Given the description of an element on the screen output the (x, y) to click on. 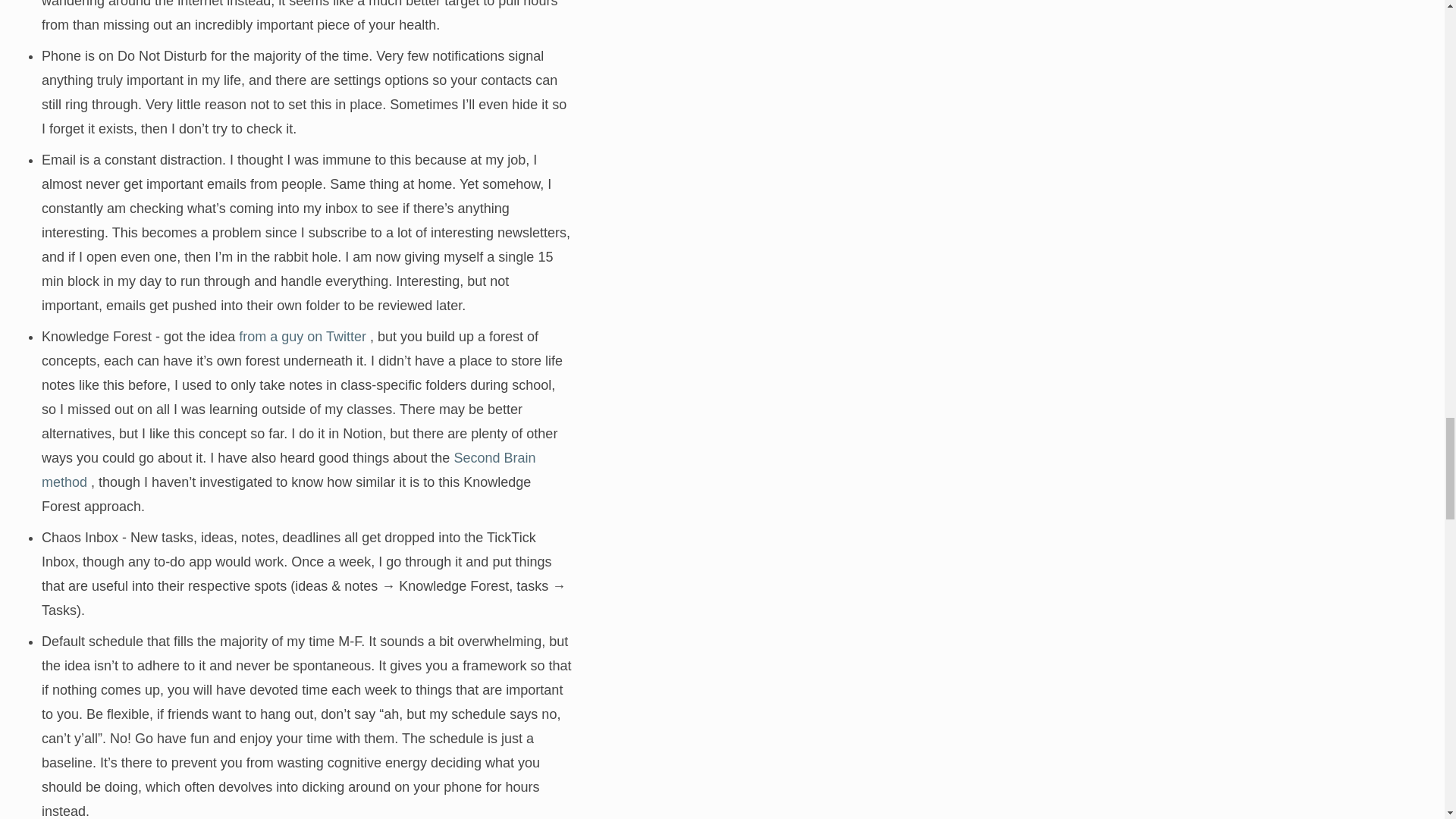
from a guy on Twitter (302, 336)
Second Brain method (288, 469)
